Given the description of an element on the screen output the (x, y) to click on. 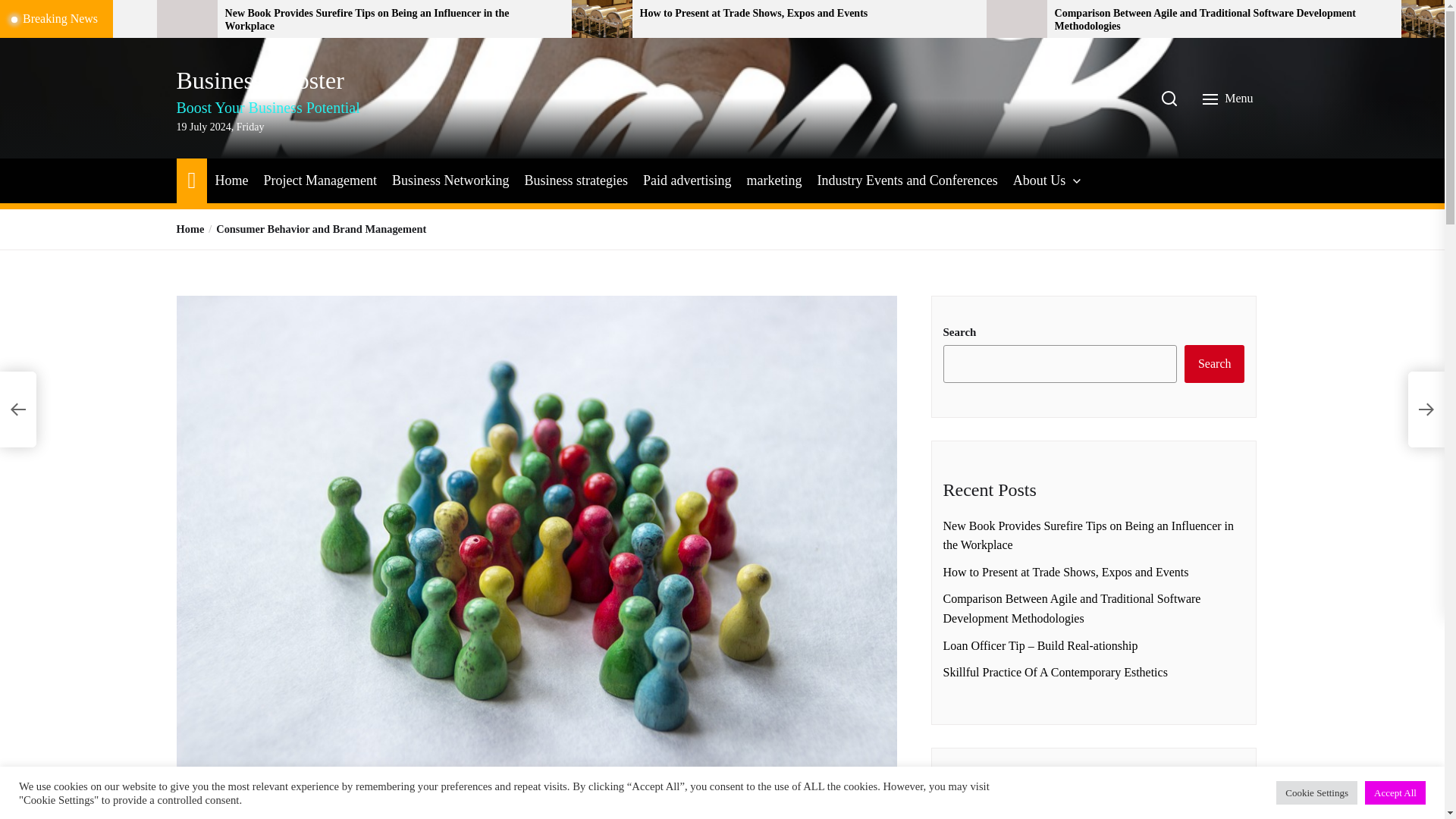
How to Present at Trade Shows, Expos and Events (807, 13)
Digital Marketing Tips You Must Know (72, 13)
Home (191, 178)
